Given the description of an element on the screen output the (x, y) to click on. 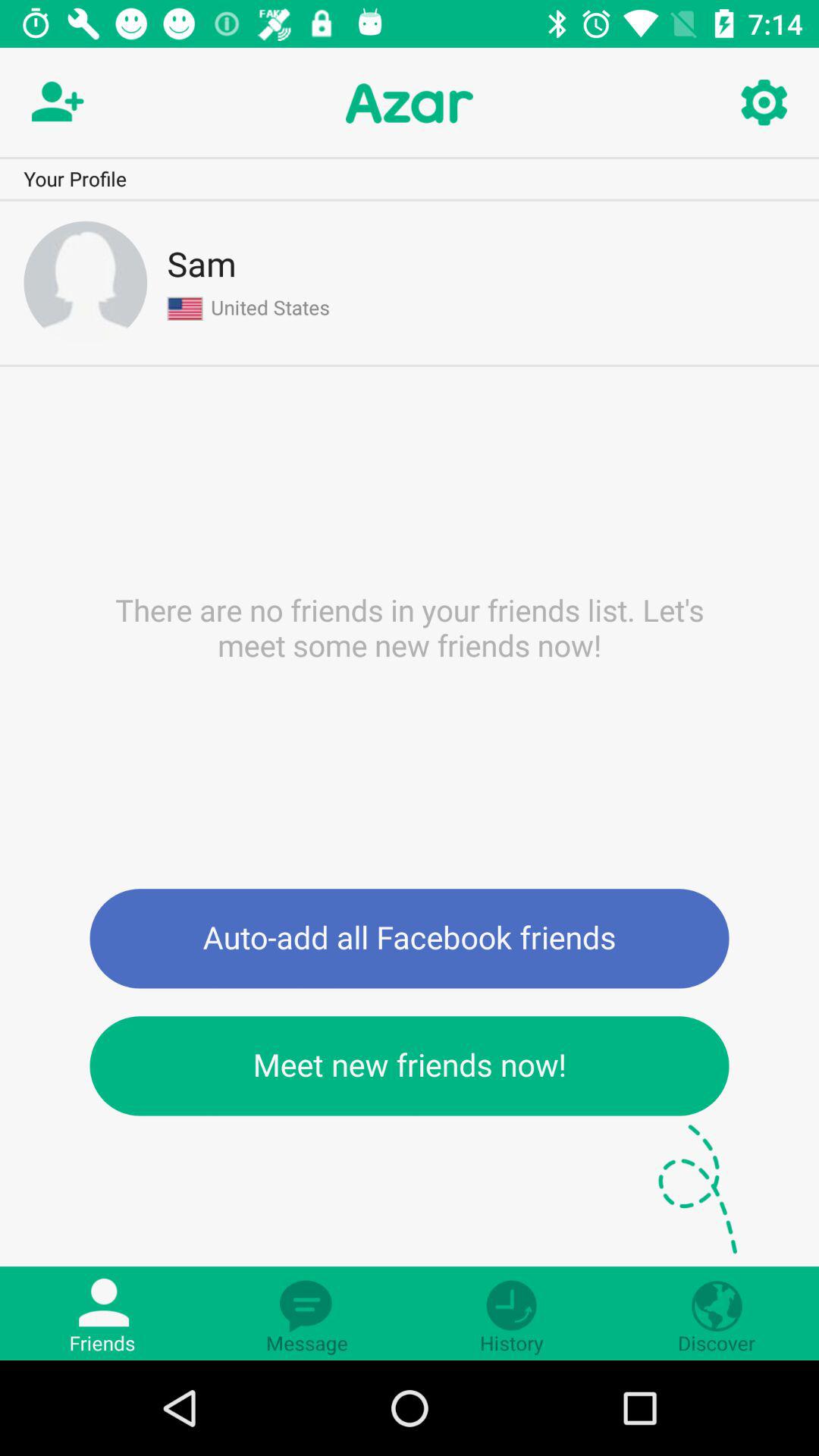
settings (763, 103)
